Given the description of an element on the screen output the (x, y) to click on. 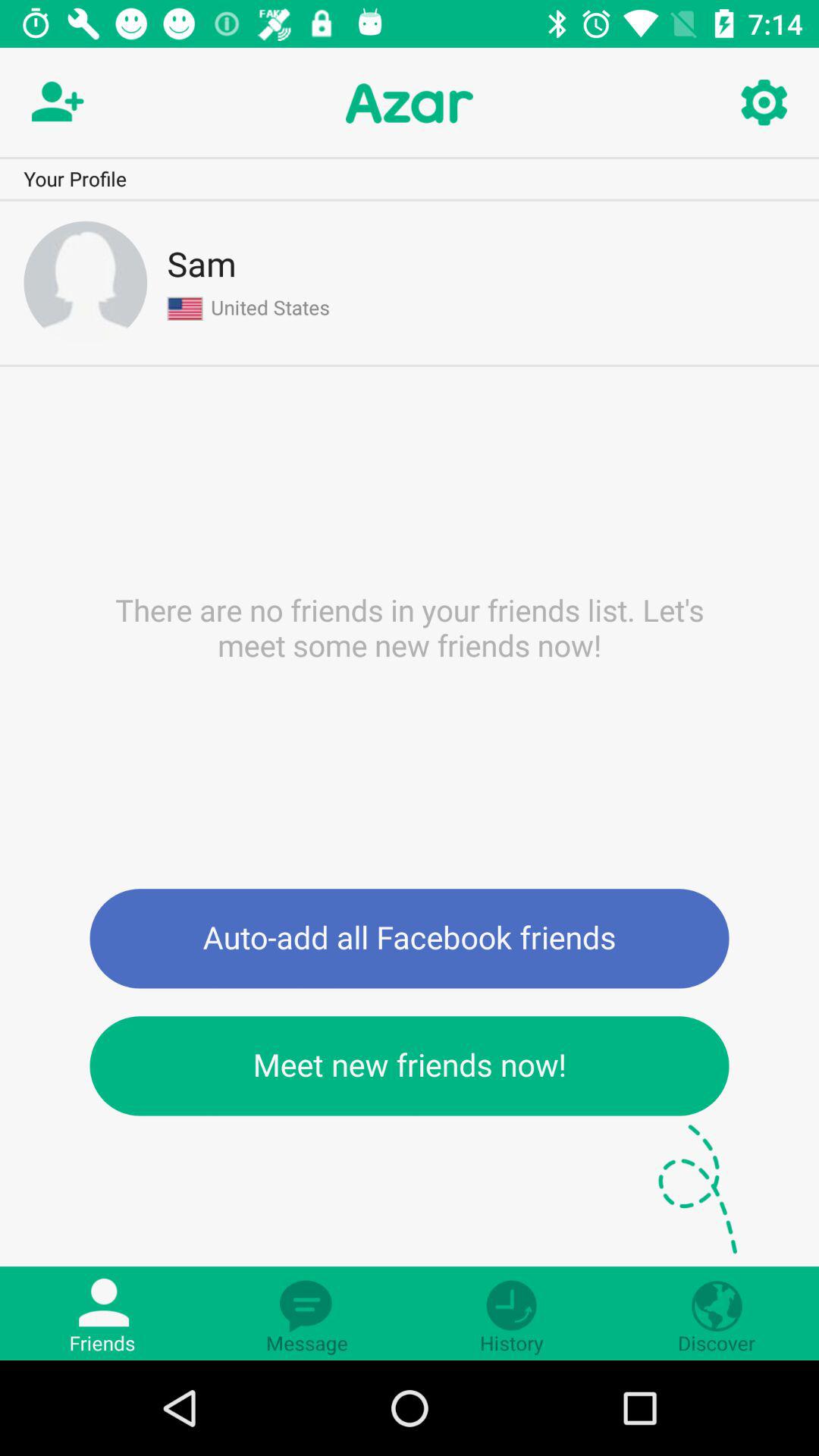
settings (763, 103)
